Given the description of an element on the screen output the (x, y) to click on. 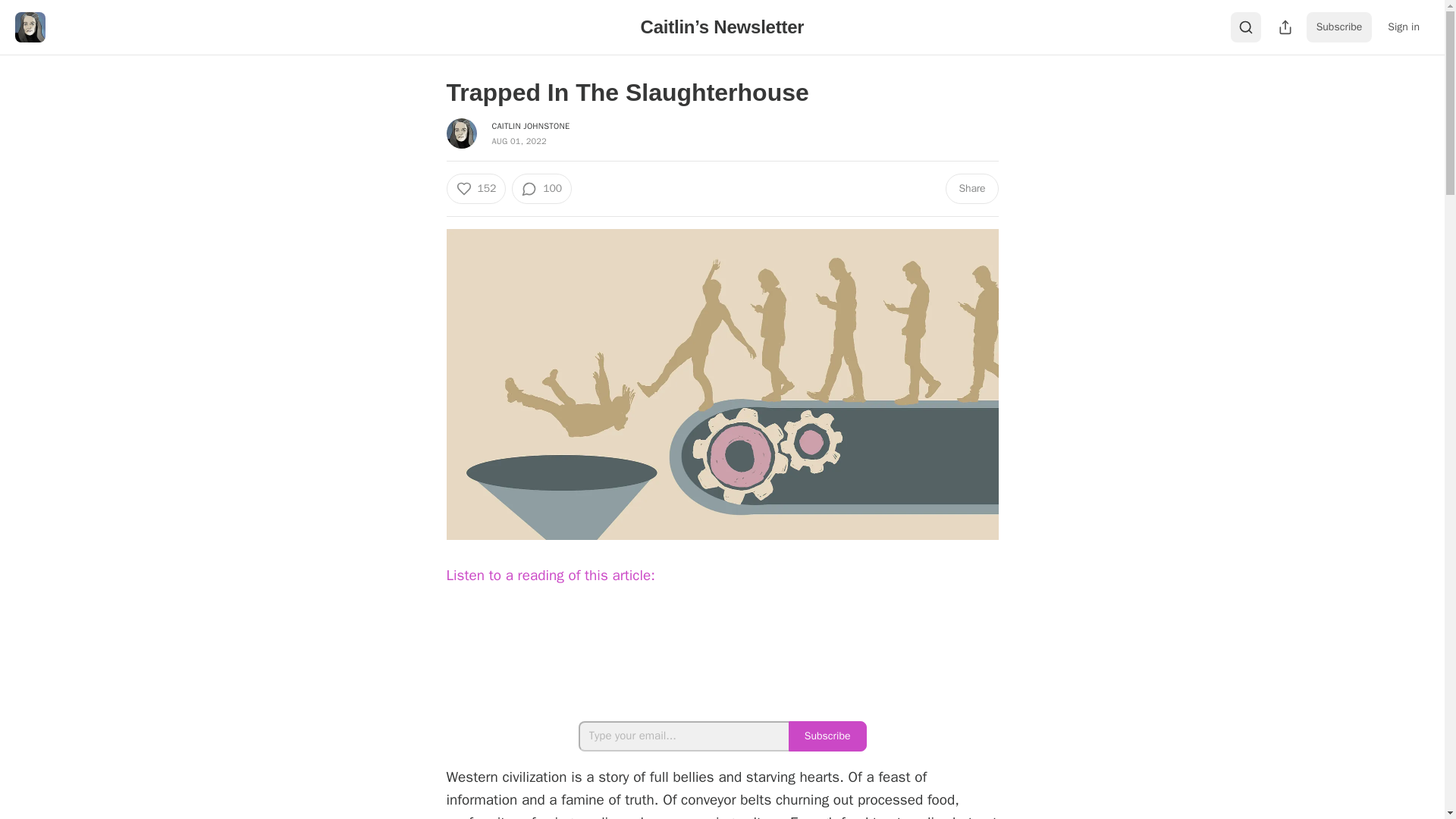
100 (542, 188)
Subscribe (827, 736)
Subscribe (1339, 27)
Share (970, 188)
152 (475, 188)
Sign in (1403, 27)
Listen to a reading of this article: (549, 574)
CAITLIN JOHNSTONE (530, 125)
